Given the description of an element on the screen output the (x, y) to click on. 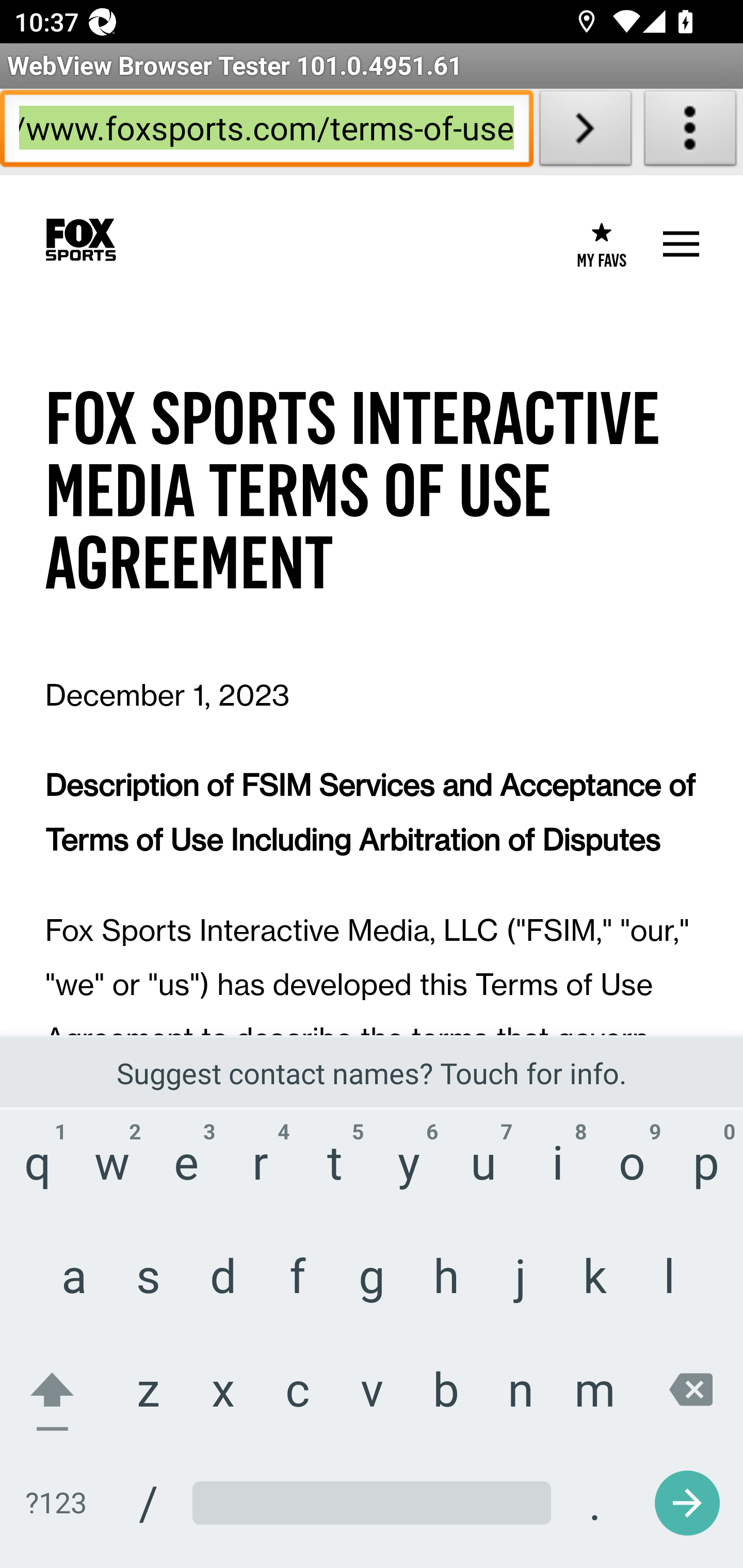
https://www.foxsports.com/terms-of-use (266, 132)
Load URL (585, 132)
About WebView (690, 132)
Home Page Link (80, 240)
